Given the description of an element on the screen output the (x, y) to click on. 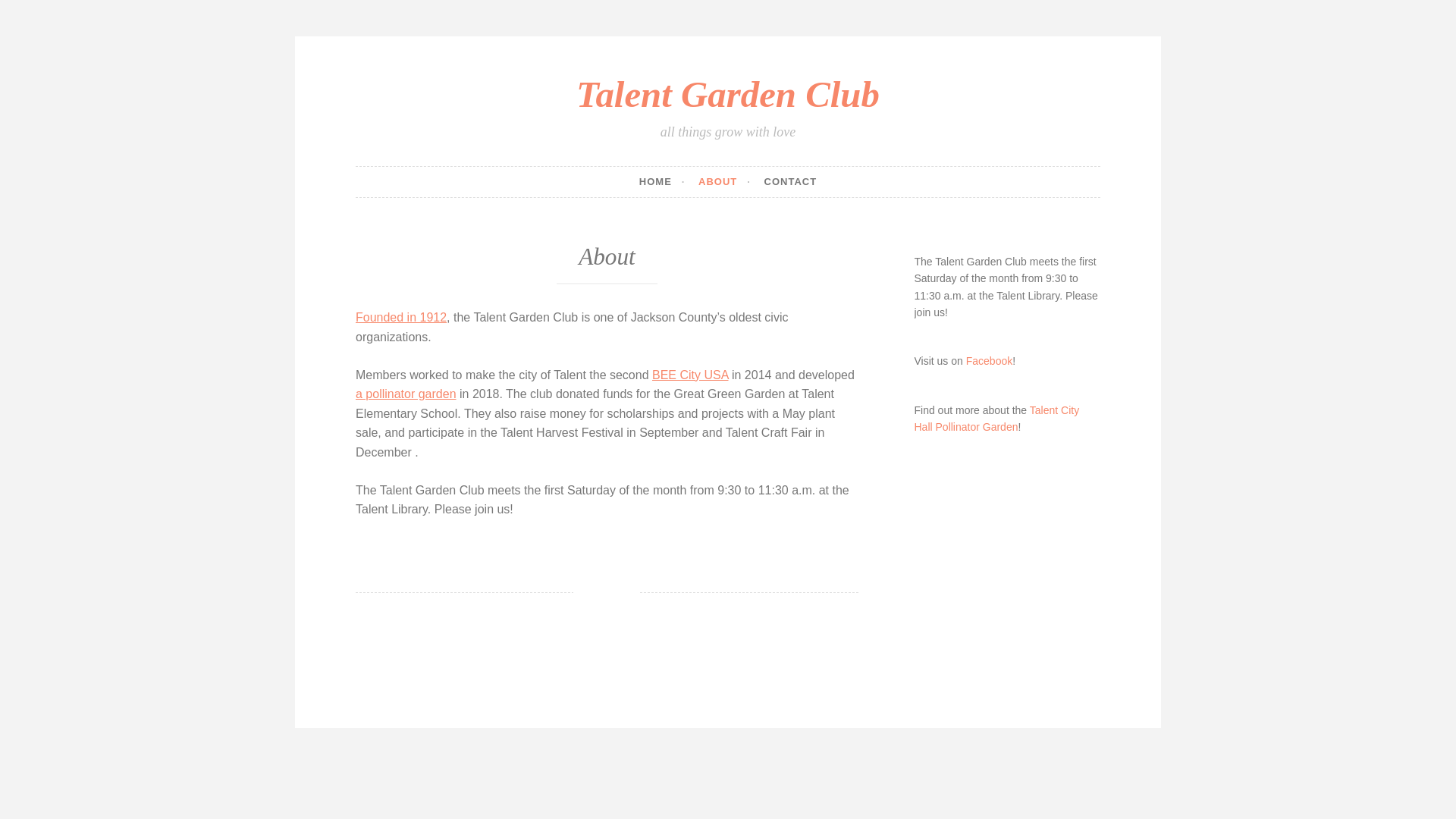
Talent Garden Club (727, 94)
Facebook (988, 360)
BEE City USA (690, 374)
Founded in 1912 (400, 317)
HOME (662, 182)
Talent City Hall Pollinator Garden (997, 418)
a pollinator garden (406, 393)
CONTACT (790, 182)
ABOUT (724, 182)
